Given the description of an element on the screen output the (x, y) to click on. 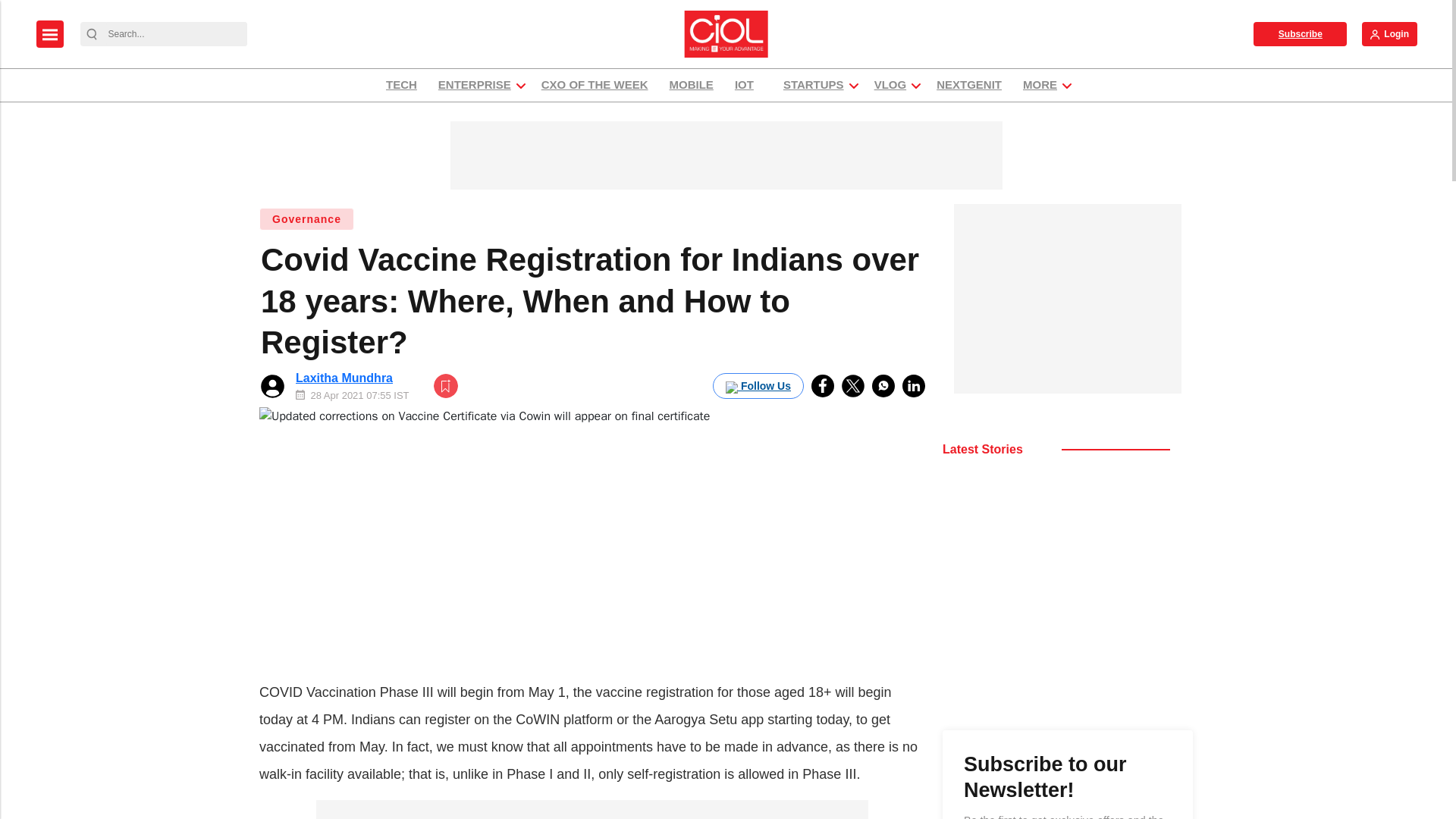
NEXTGENIT (969, 84)
MOBILE (691, 84)
CXO OF THE WEEK (594, 84)
VLOG (890, 84)
STARTUPS (812, 84)
Subscribe (1299, 33)
TECH (401, 84)
Login (1388, 33)
MORE (1039, 84)
ENTERPRISE (474, 84)
